Given the description of an element on the screen output the (x, y) to click on. 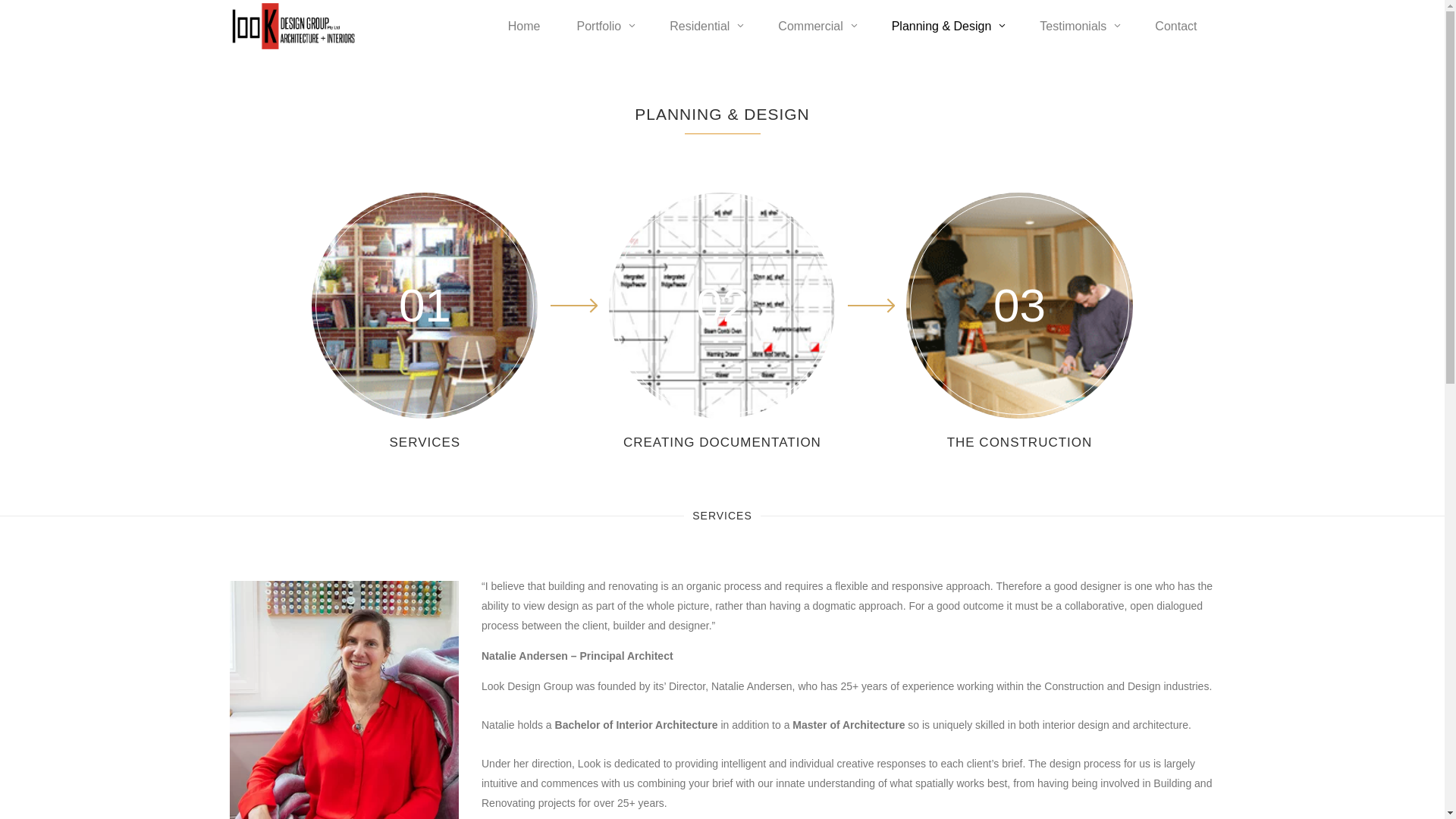
02
CREATING DOCUMENTATION Element type: text (721, 323)
Contact Element type: text (1175, 25)
Home Element type: text (523, 25)
Planning & Design Element type: text (947, 25)
Residential Element type: text (705, 25)
Commercial Element type: text (815, 25)
Testimonials Element type: text (1078, 25)
Portfolio Element type: text (604, 25)
01
SERVICES Element type: text (424, 323)
03
THE CONSTRUCTION Element type: text (1018, 323)
